Given the description of an element on the screen output the (x, y) to click on. 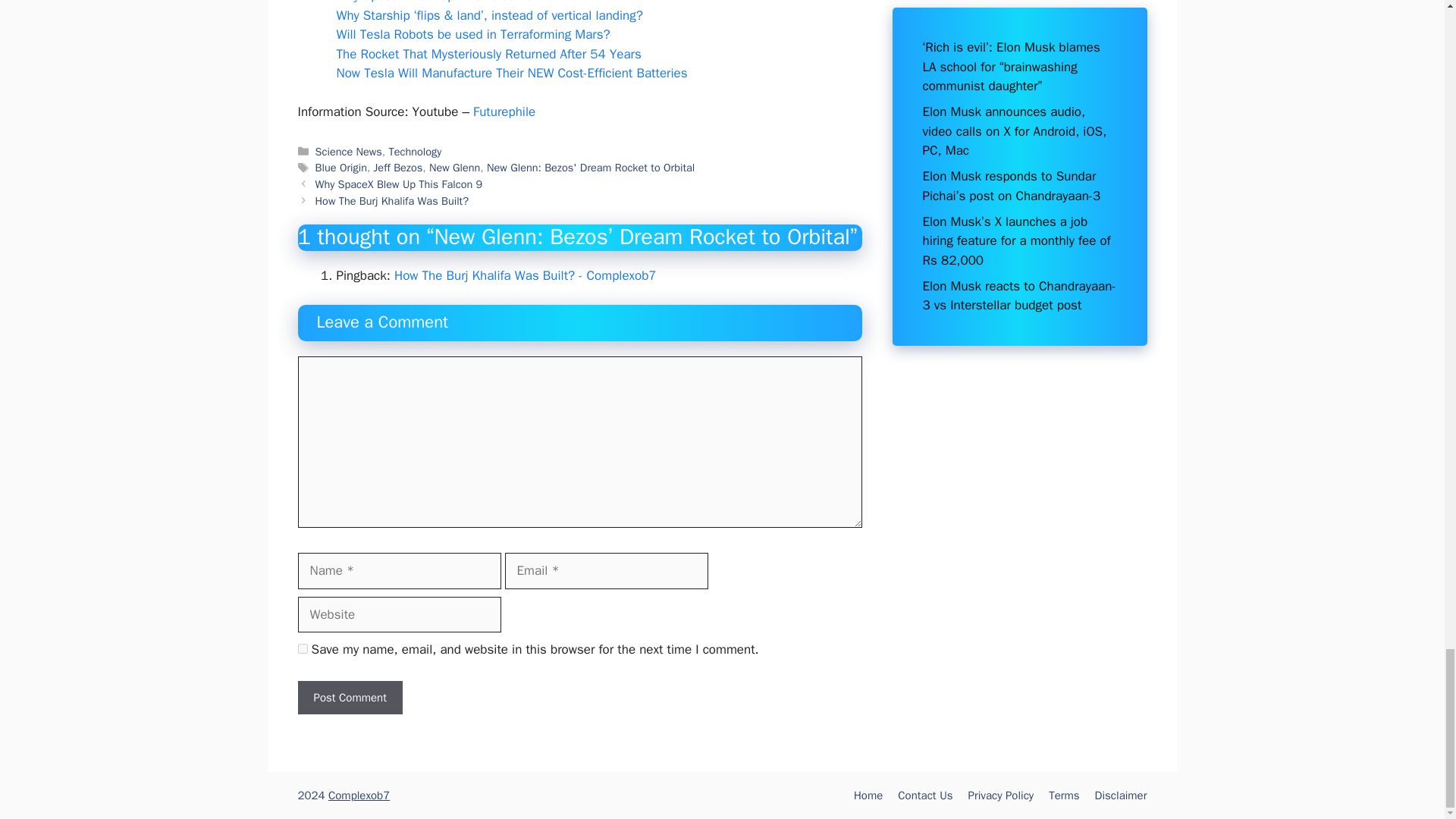
Post Comment (349, 697)
Technology (414, 151)
The Rocket That Mysteriously Returned After 54 Years (489, 53)
Will Tesla Robots be used in Terraforming Mars? (473, 34)
Science News (348, 151)
Futurephile (504, 111)
yes (302, 648)
Why SpaceX Blew Up This Falcon 9 (435, 2)
Blue Origin (340, 167)
New Glenn (454, 167)
Jeff Bezos (398, 167)
